Given the description of an element on the screen output the (x, y) to click on. 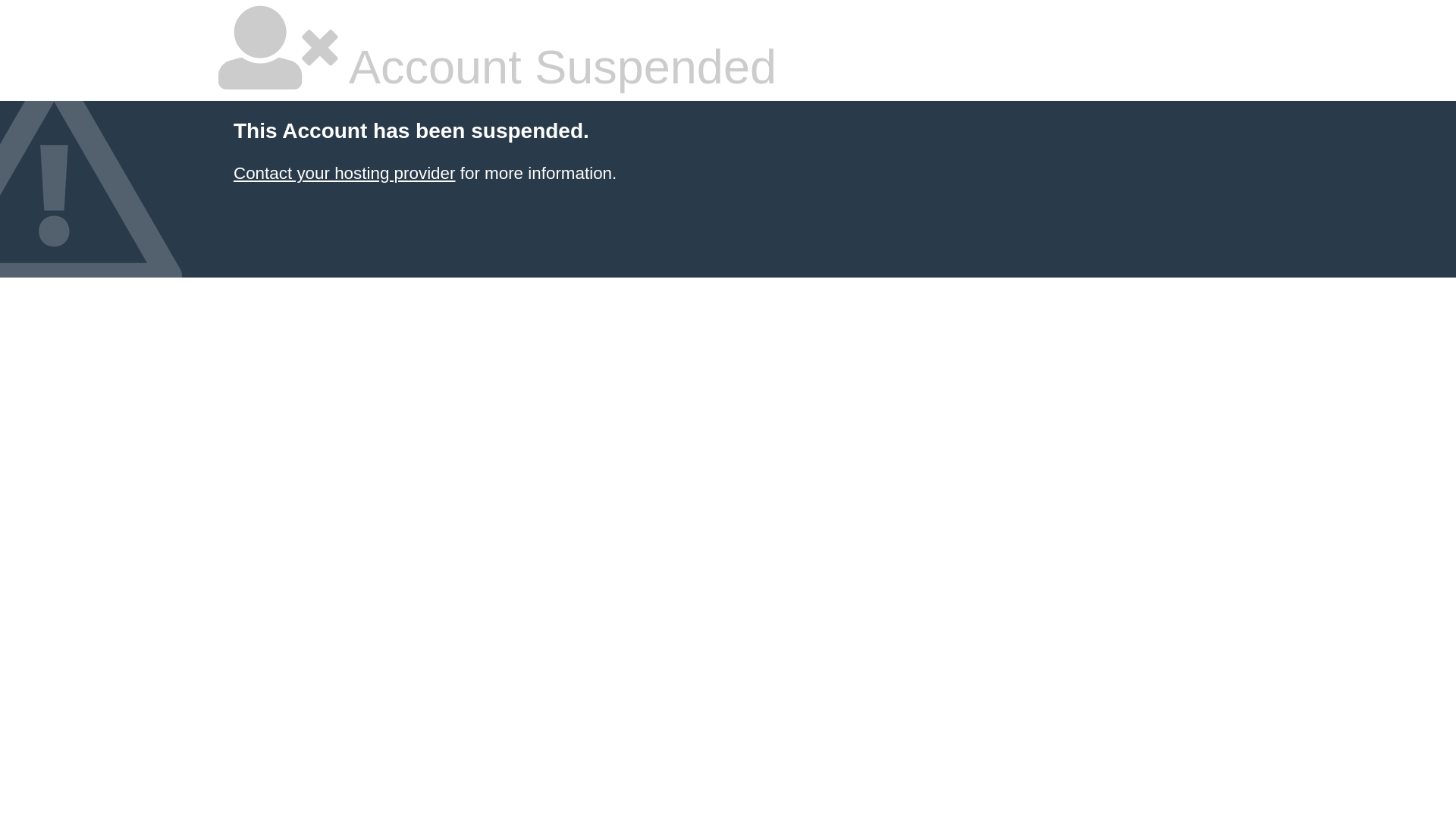
Contact your hosting provider Element type: text (344, 172)
